Given the description of an element on the screen output the (x, y) to click on. 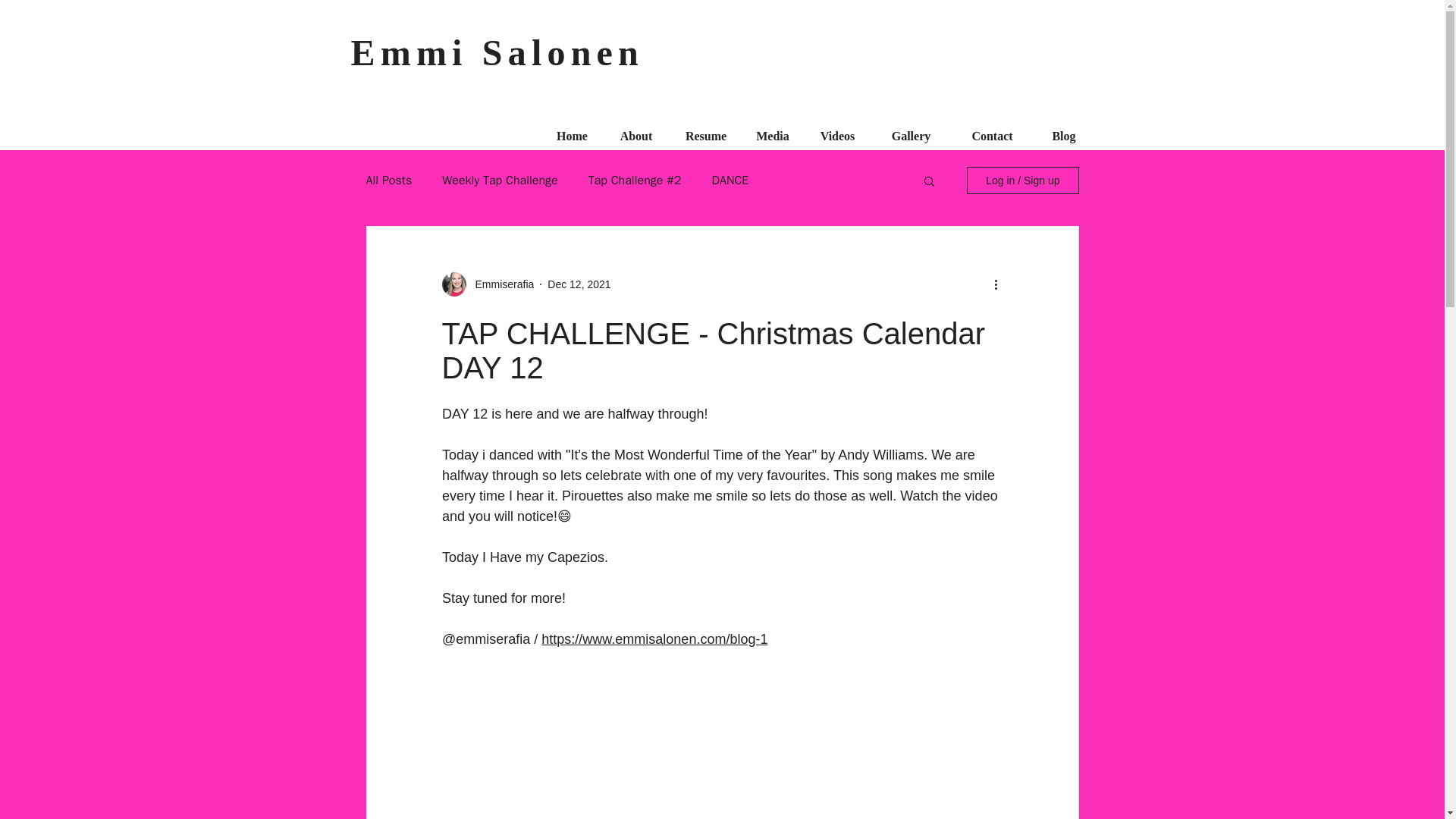
Home (571, 129)
Dec 12, 2021 (578, 283)
All Posts (388, 180)
Blog (1063, 129)
Contact (991, 129)
Gallery (911, 129)
Media (772, 129)
Weekly Tap Challenge (499, 180)
DANCE (729, 180)
Resume (705, 129)
Emmi Salonen (496, 52)
Videos (837, 129)
Emmiserafia (499, 283)
About (635, 129)
